Given the description of an element on the screen output the (x, y) to click on. 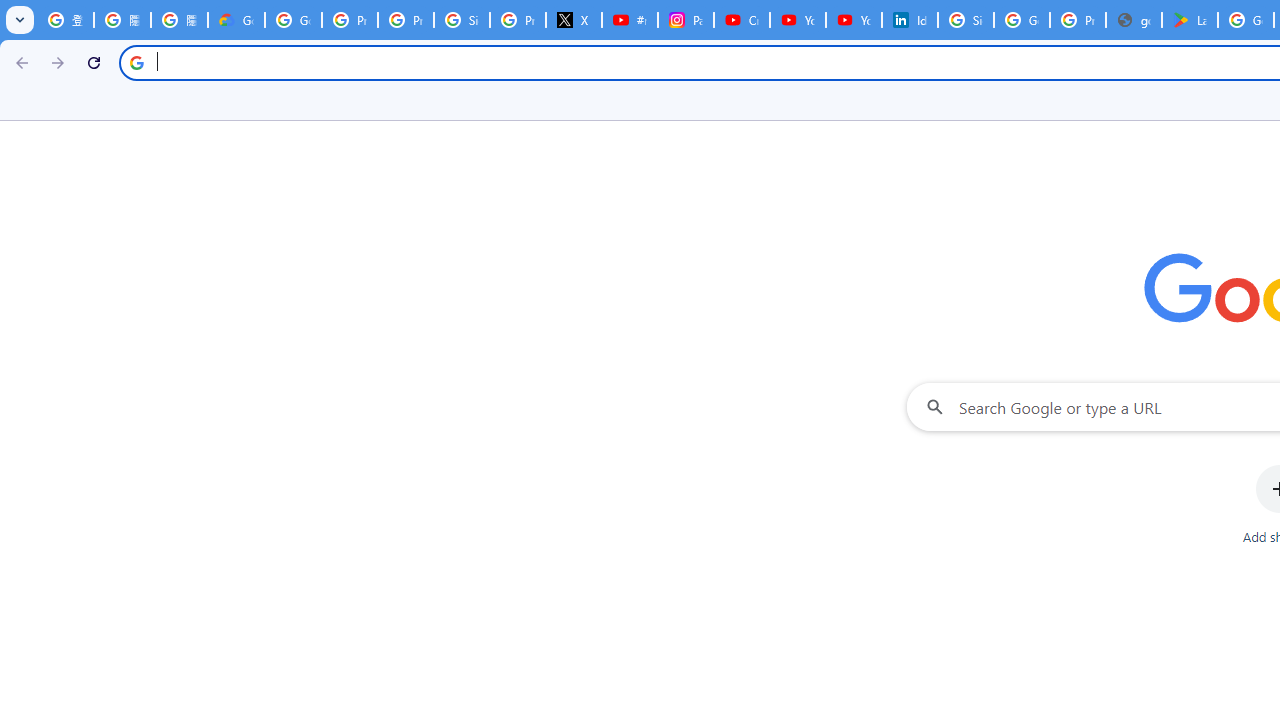
Sign in - Google Accounts (461, 20)
Last Shelter: Survival - Apps on Google Play (1190, 20)
Identity verification via Persona | LinkedIn Help (909, 20)
Privacy Help Center - Policies Help (405, 20)
#nbabasketballhighlights - YouTube (629, 20)
google_privacy_policy_en.pdf (1133, 20)
Sign in - Google Accounts (966, 20)
Search icon (136, 62)
